Given the description of an element on the screen output the (x, y) to click on. 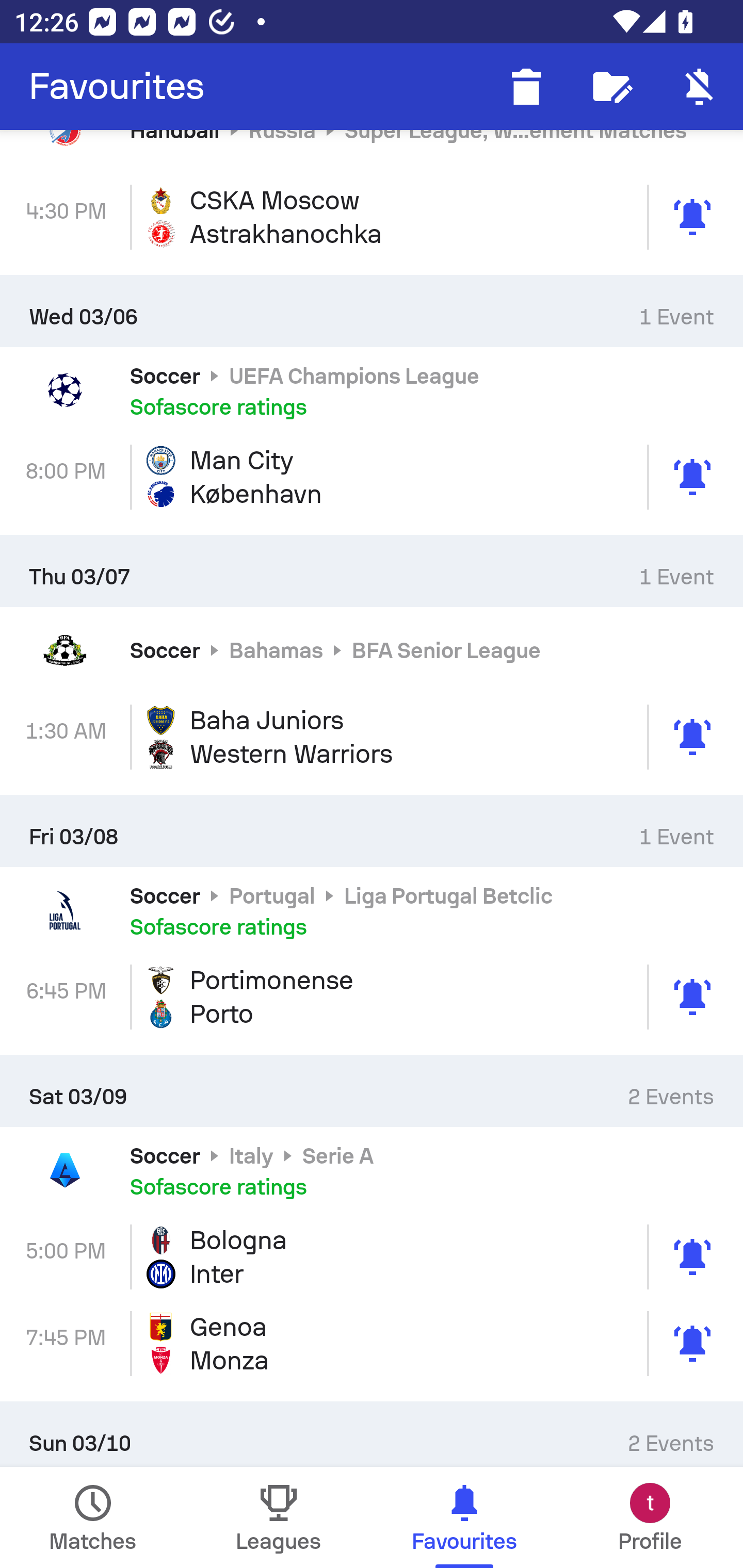
Favourites (116, 86)
Delete finished (525, 86)
Follow editor (612, 86)
Enable notifications (699, 86)
4:30 PM CSKA Moscow Astrakhanochka (371, 217)
Wed 03/06 1 Event (371, 310)
Soccer UEFA Champions League Sofascore ratings (371, 390)
8:00 PM Man City København (371, 477)
Thu 03/07 1 Event (371, 570)
Soccer Bahamas BFA Senior League (371, 649)
1:30 AM Baha Juniors Western Warriors (371, 736)
Fri 03/08 1 Event (371, 830)
6:45 PM Portimonense Porto (371, 996)
Sat 03/09 2 Events (371, 1091)
Soccer Italy Serie A Sofascore ratings (371, 1170)
5:00 PM Bologna Inter (371, 1256)
7:45 PM Genoa Monza (371, 1343)
Sun 03/10 2 Events (371, 1434)
Matches (92, 1517)
Leagues (278, 1517)
Profile (650, 1517)
